Given the description of an element on the screen output the (x, y) to click on. 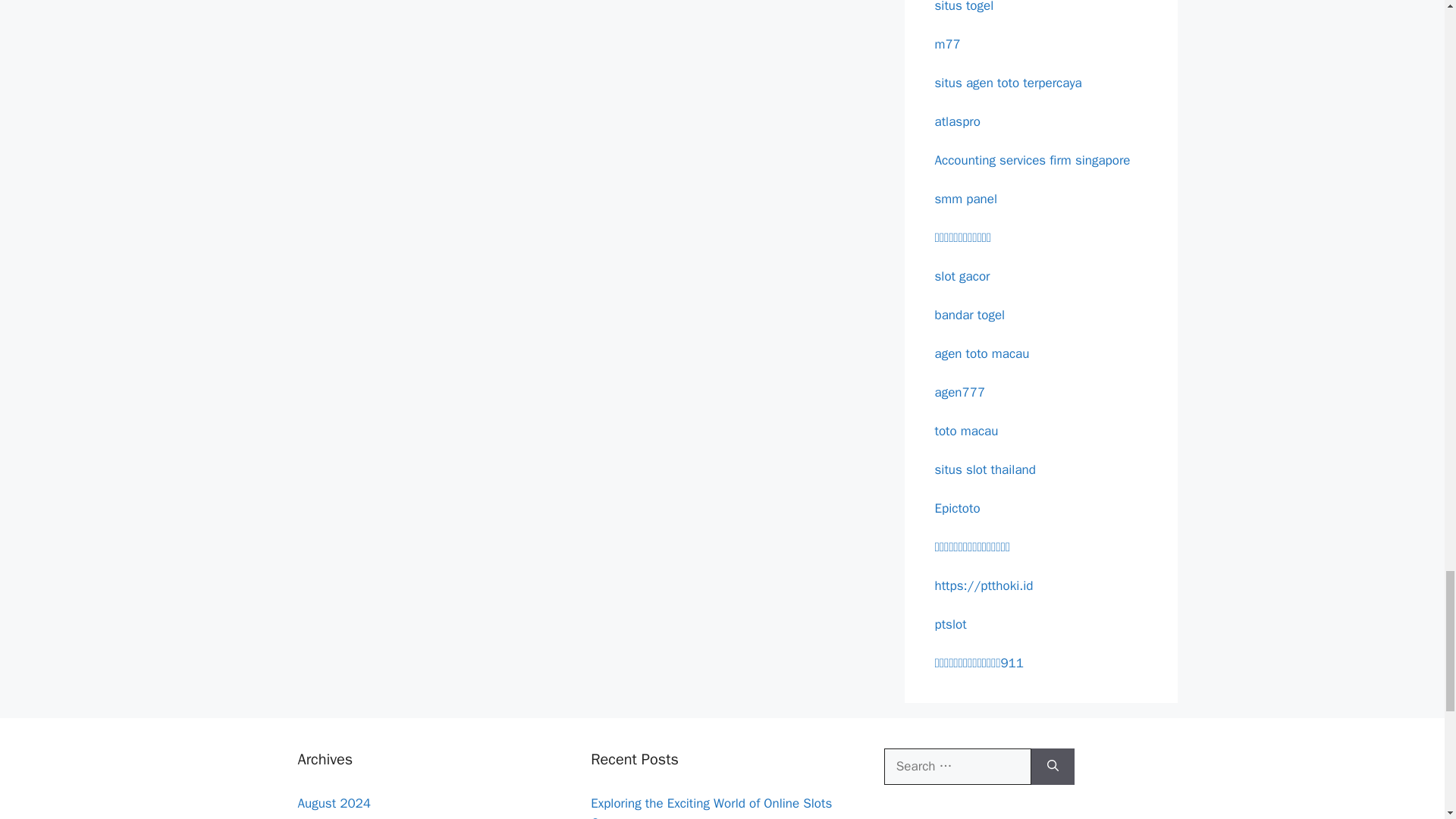
Search for: (956, 766)
